Given the description of an element on the screen output the (x, y) to click on. 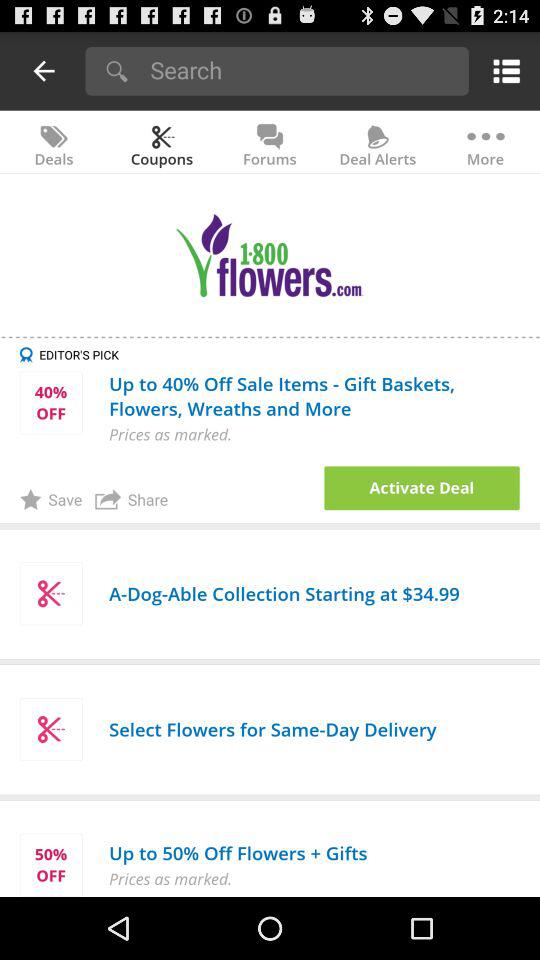
activate the shown deal (422, 488)
